Given the description of an element on the screen output the (x, y) to click on. 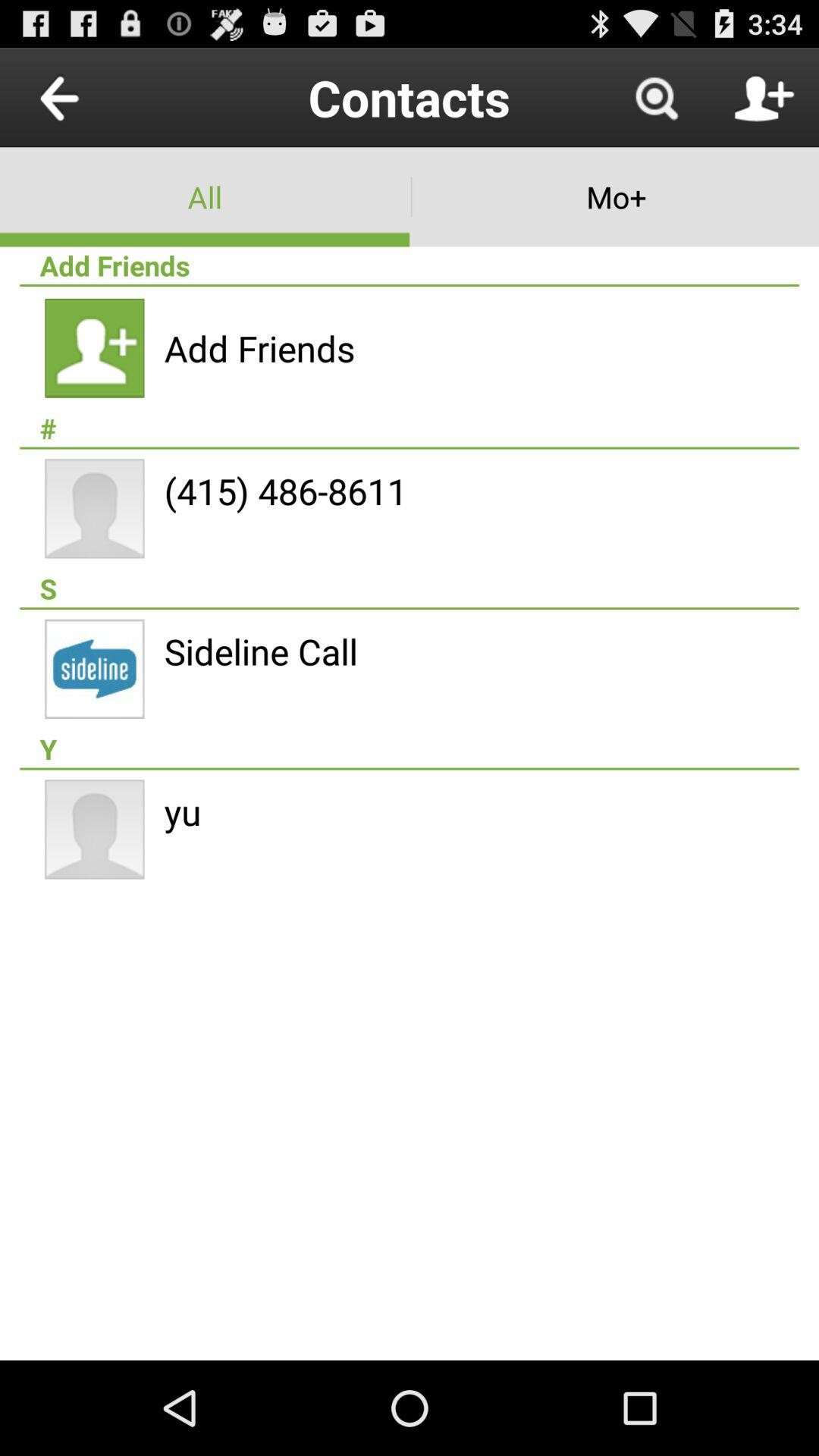
choose app above the add friends (204, 196)
